Given the description of an element on the screen output the (x, y) to click on. 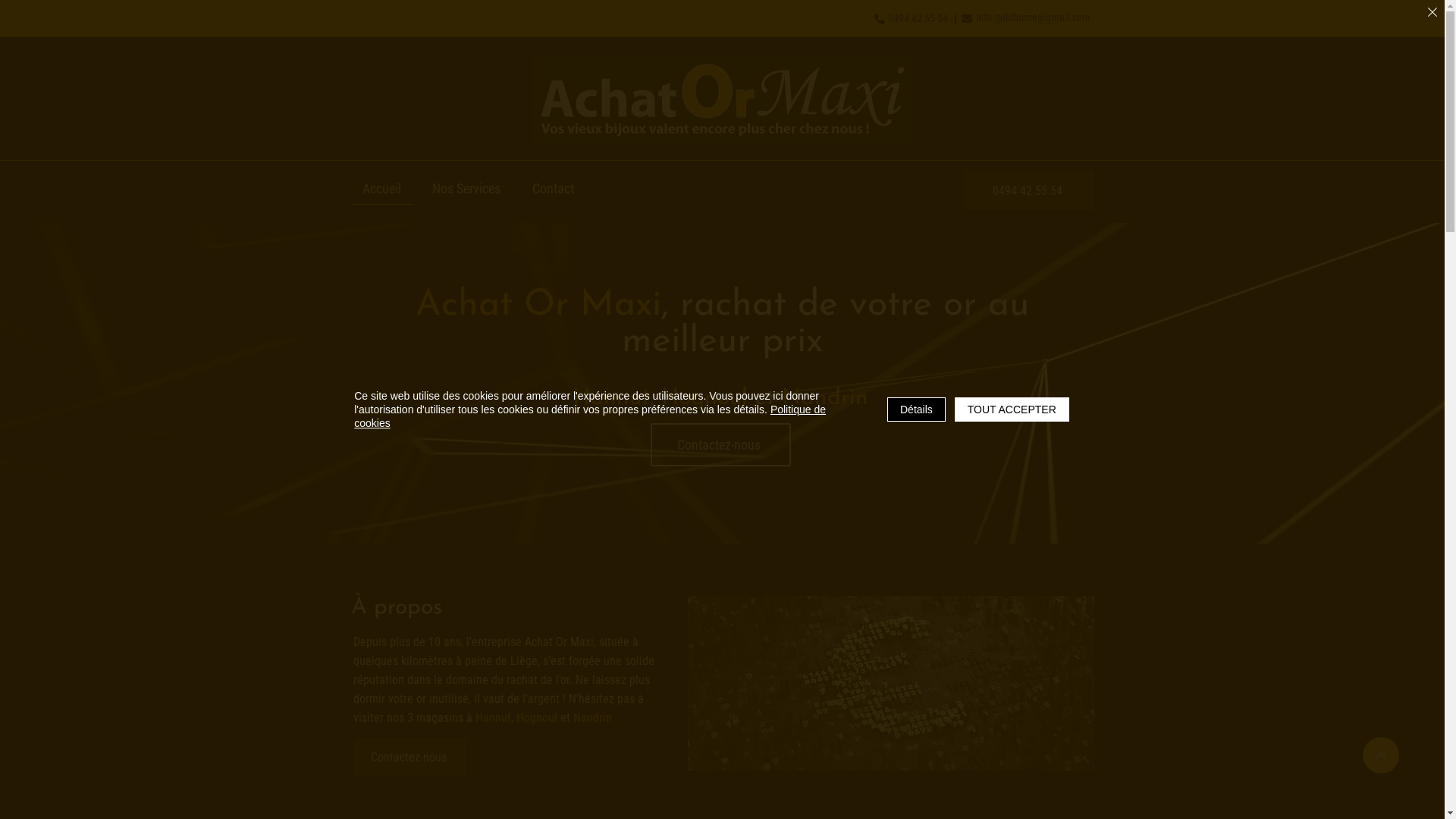
Accueil Element type: text (381, 188)
 0494 42 55 54  Element type: text (917, 18)
Nos Services Element type: text (466, 187)
info.goldhome@gmail.com Element type: text (1032, 17)
Contactez-nous Element type: text (410, 756)
Contactez-nous Element type: text (720, 444)
0494 42 55 54 Element type: text (1029, 190)
TOUT ACCEPTER Element type: text (1350, 794)
Politique de cookies Element type: text (945, 794)
Contact Element type: text (552, 187)
